Given the description of an element on the screen output the (x, y) to click on. 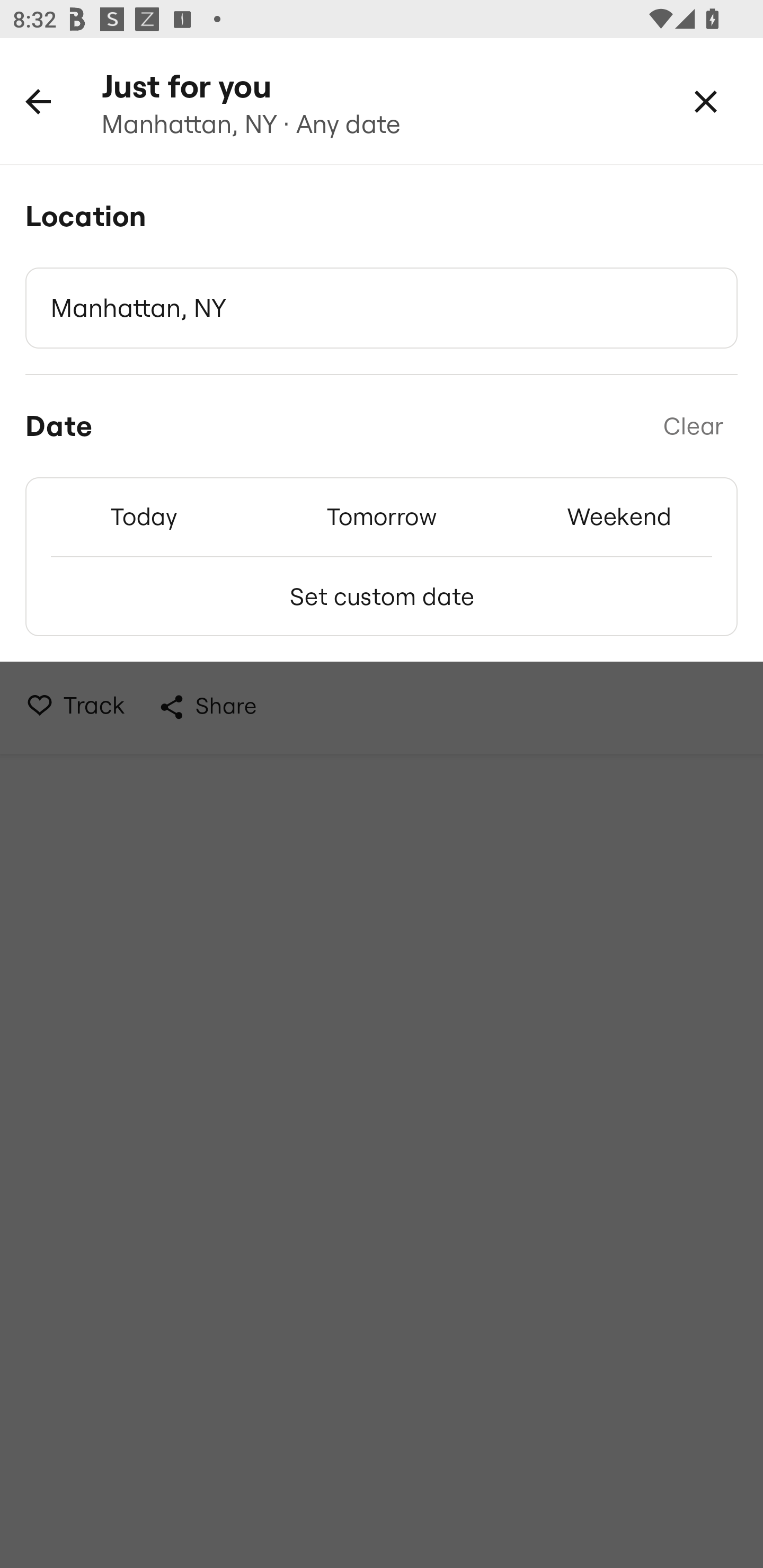
Back (38, 100)
Close (705, 100)
Manhattan, NY (381, 308)
Clear (693, 426)
Today (143, 516)
Tomorrow (381, 516)
Weekend (618, 516)
Set custom date (381, 596)
